Given the description of an element on the screen output the (x, y) to click on. 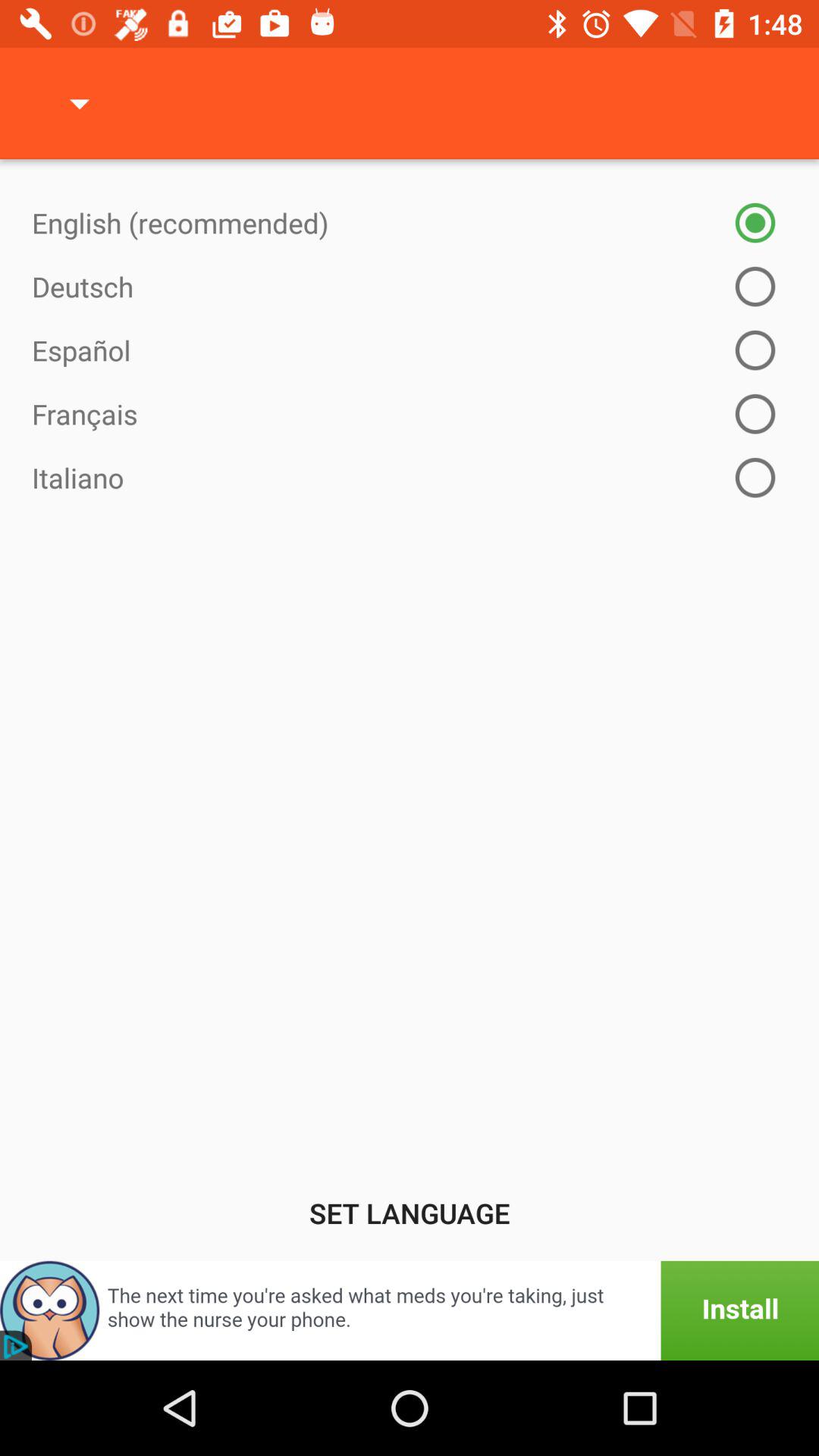
go to (409, 1310)
